Given the description of an element on the screen output the (x, y) to click on. 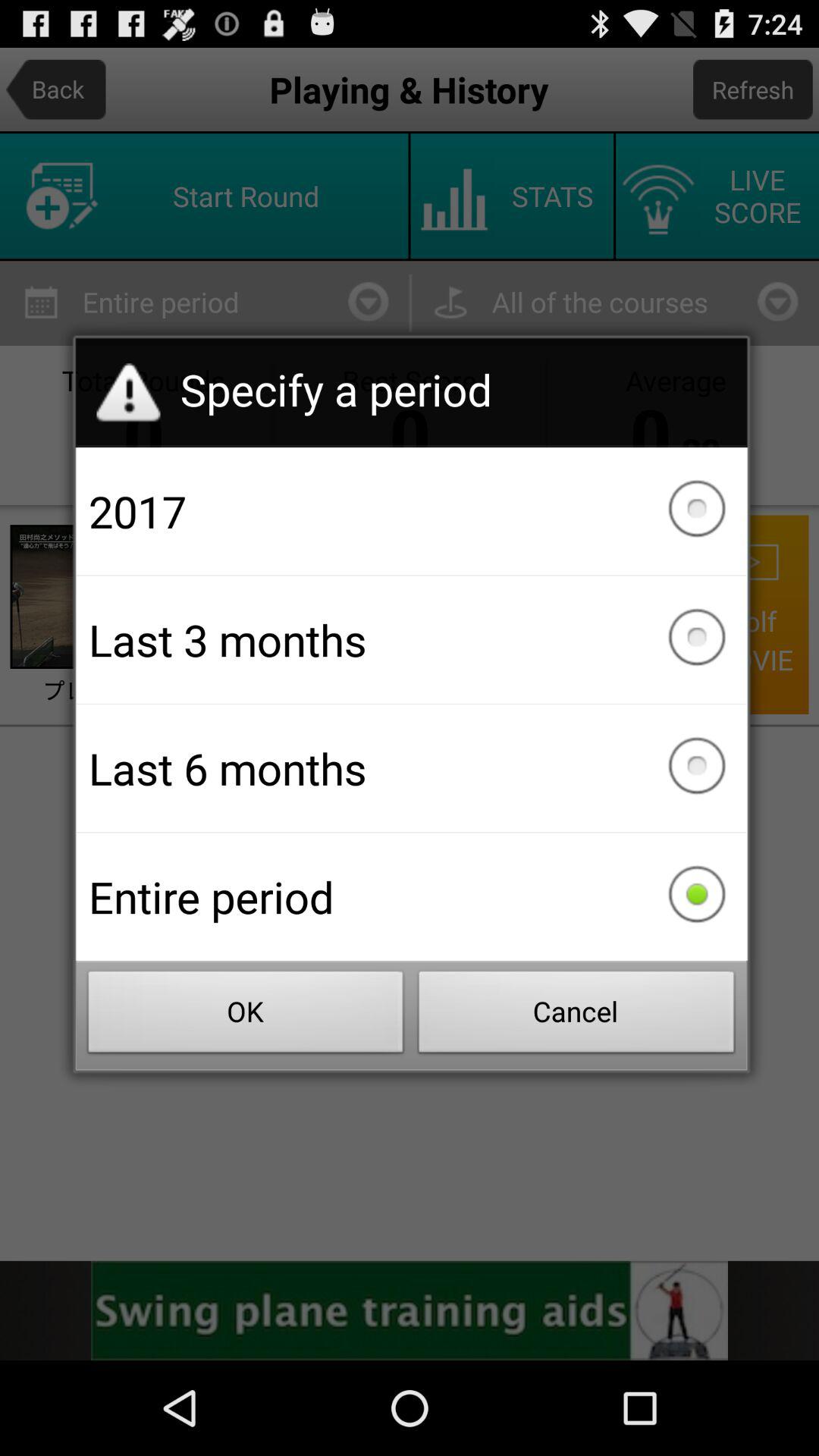
open the button to the left of cancel (245, 1016)
